Given the description of an element on the screen output the (x, y) to click on. 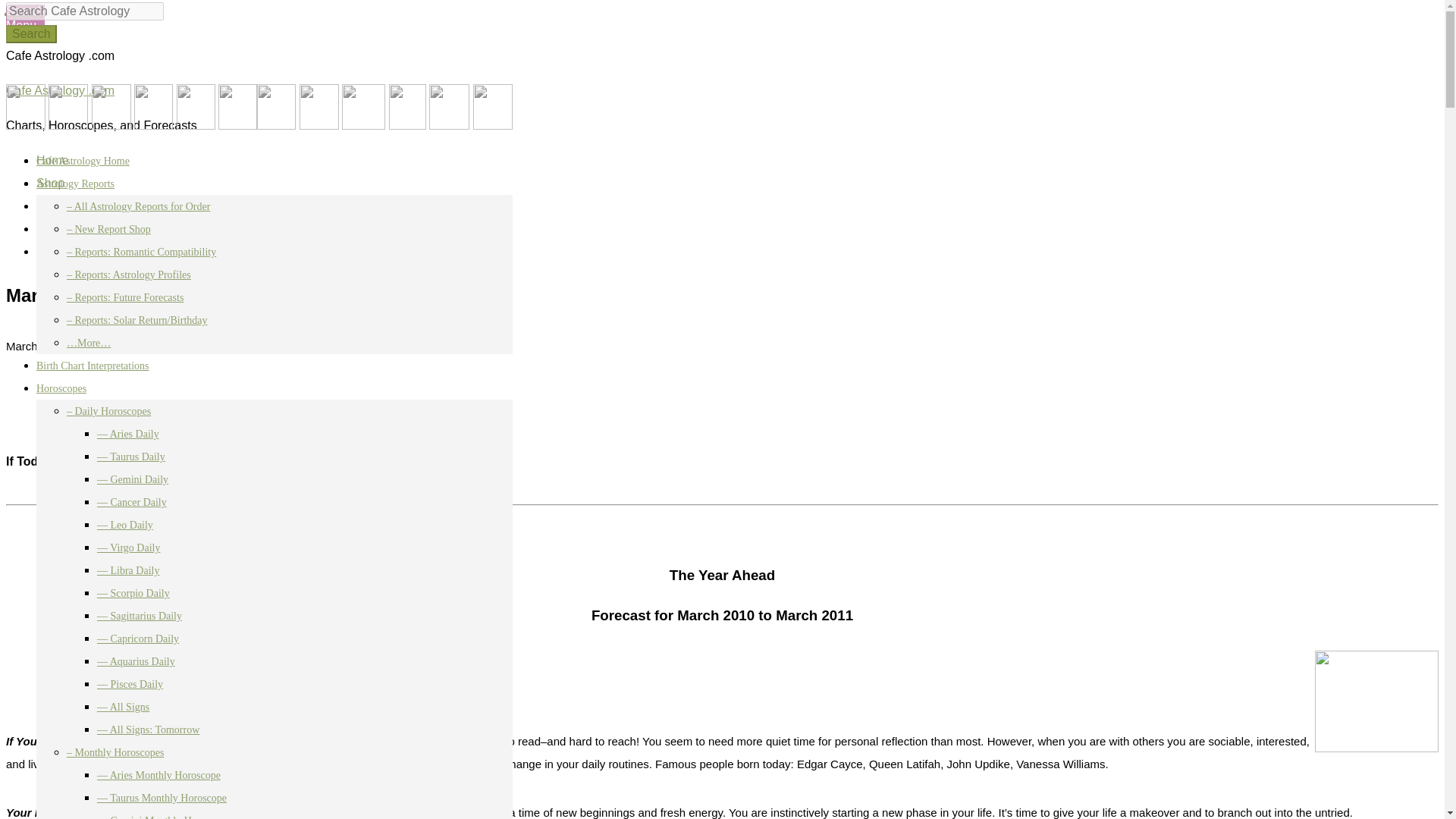
Search (30, 34)
Horoscopes (68, 205)
Search (30, 34)
Search (55, 250)
Shop (50, 182)
Cafe Astrology .com (60, 90)
Site Map (60, 228)
Home (52, 160)
